Given the description of an element on the screen output the (x, y) to click on. 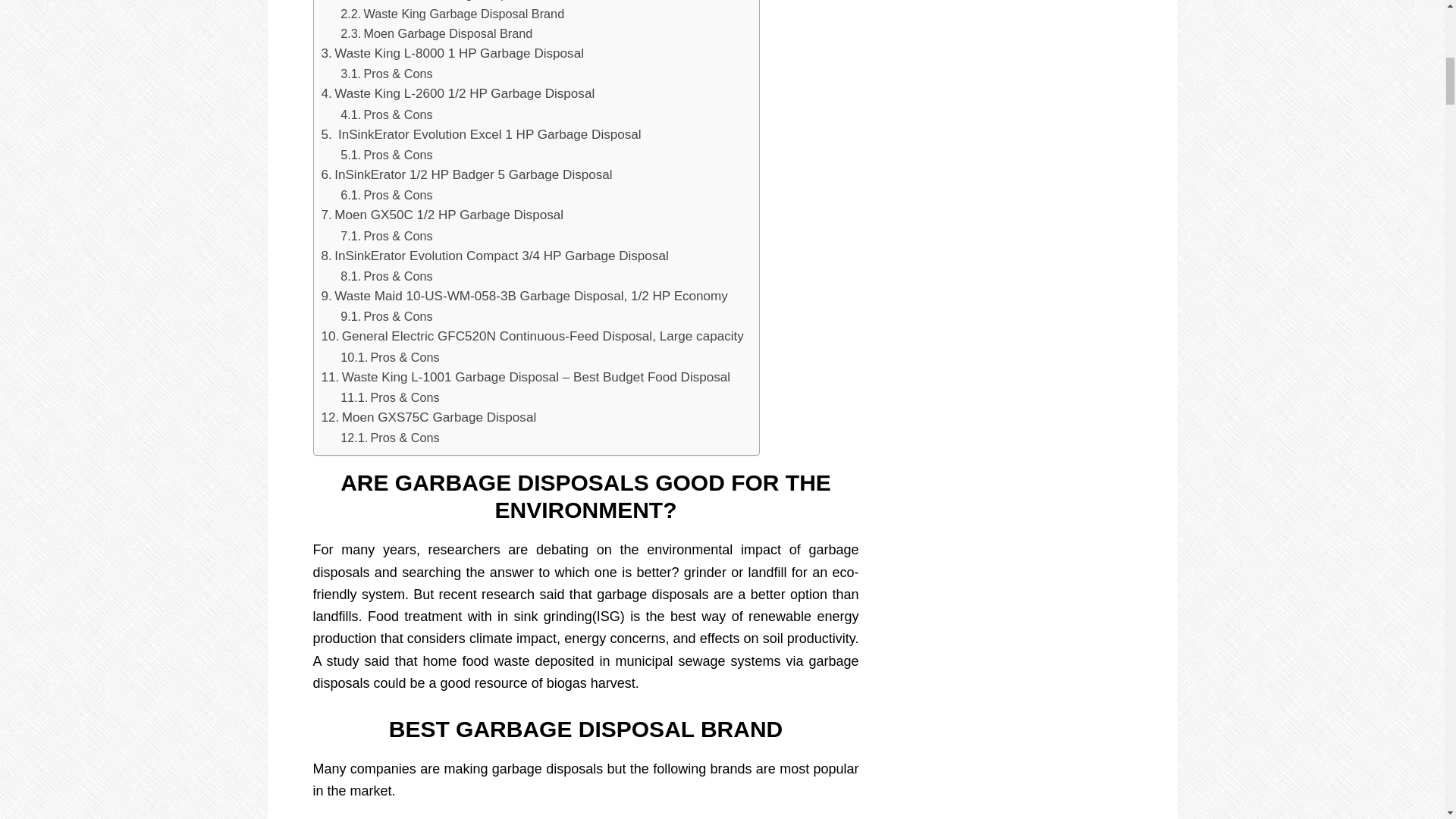
Waste King L-8000 1 HP Garbage Disposal (452, 53)
Insinkerator Garbage Disposal Brand (453, 2)
Waste King Garbage Disposal Brand (452, 13)
Insinkerator Garbage Disposal Brand (453, 2)
 InSinkErator Evolution Excel 1 HP Garbage Disposal (481, 134)
Moen Garbage Disposal Brand (436, 33)
Moen Garbage Disposal Brand (436, 33)
Waste King L-8000 1 HP Garbage Disposal (452, 53)
Waste King Garbage Disposal Brand (452, 13)
